Given the description of an element on the screen output the (x, y) to click on. 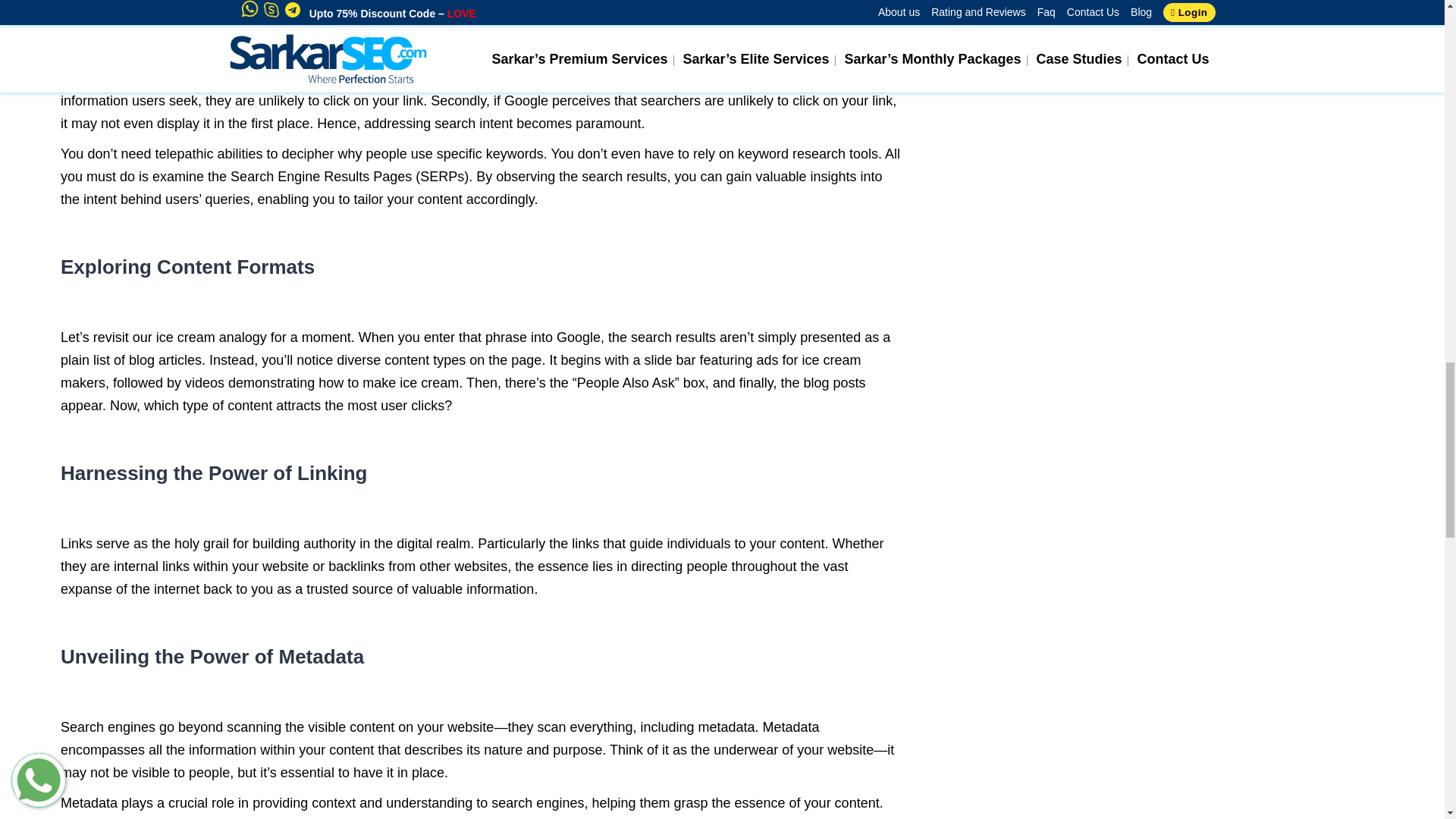
Twitter (1064, 18)
Default Label (1131, 18)
Facebook (1029, 18)
Default Label (1100, 18)
